Given the description of an element on the screen output the (x, y) to click on. 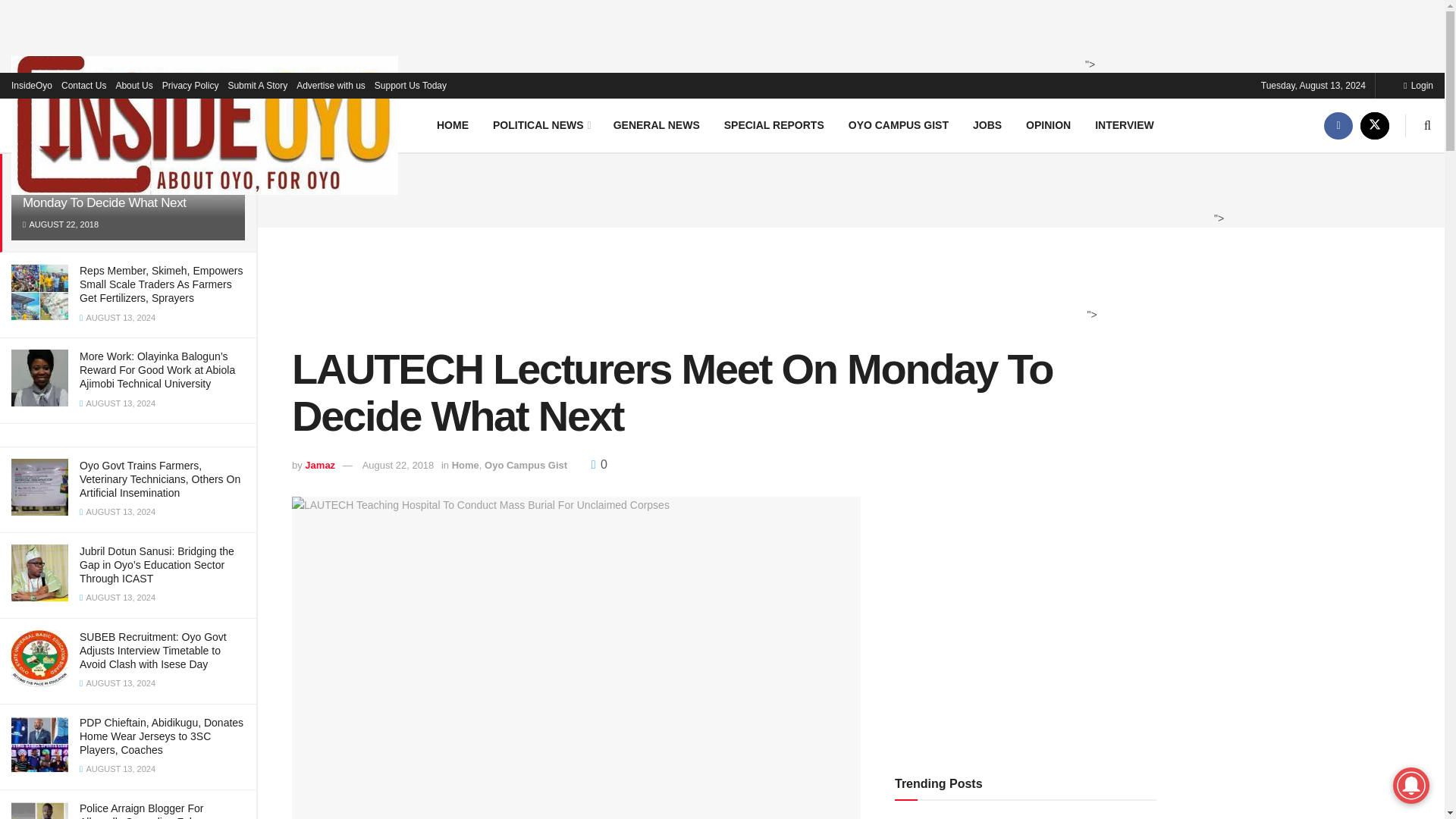
Advertisement (716, 33)
HOME (452, 125)
LAUTECH Lecturers Meet On Monday To Decide What Next (104, 193)
POLITICAL NEWS (540, 125)
InsideOyo (31, 85)
Login (1417, 85)
Privacy Policy (190, 85)
Advertisement (718, 284)
